Given the description of an element on the screen output the (x, y) to click on. 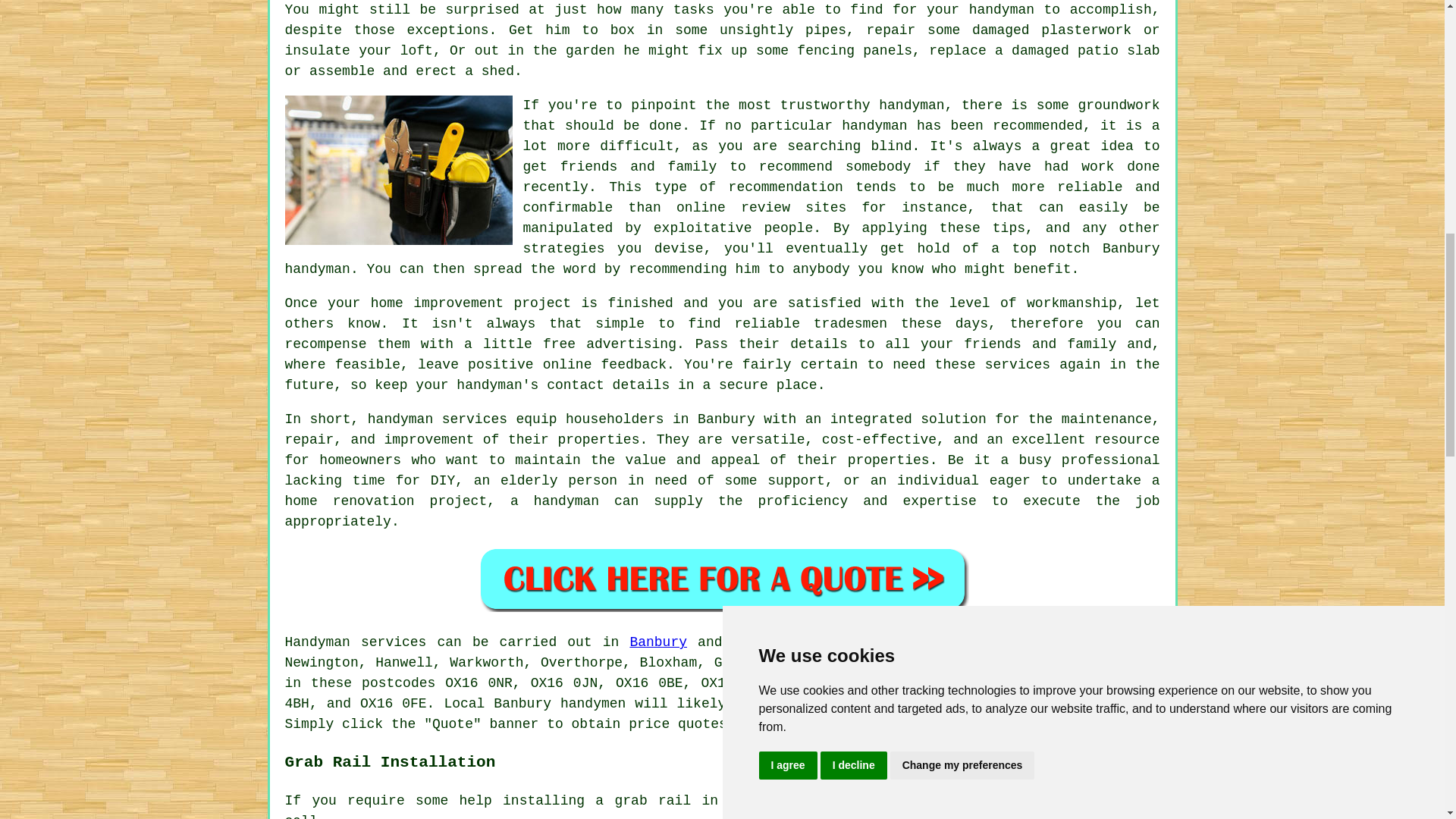
handyman (800, 724)
Handyman services (355, 642)
handymen (593, 703)
